Given the description of an element on the screen output the (x, y) to click on. 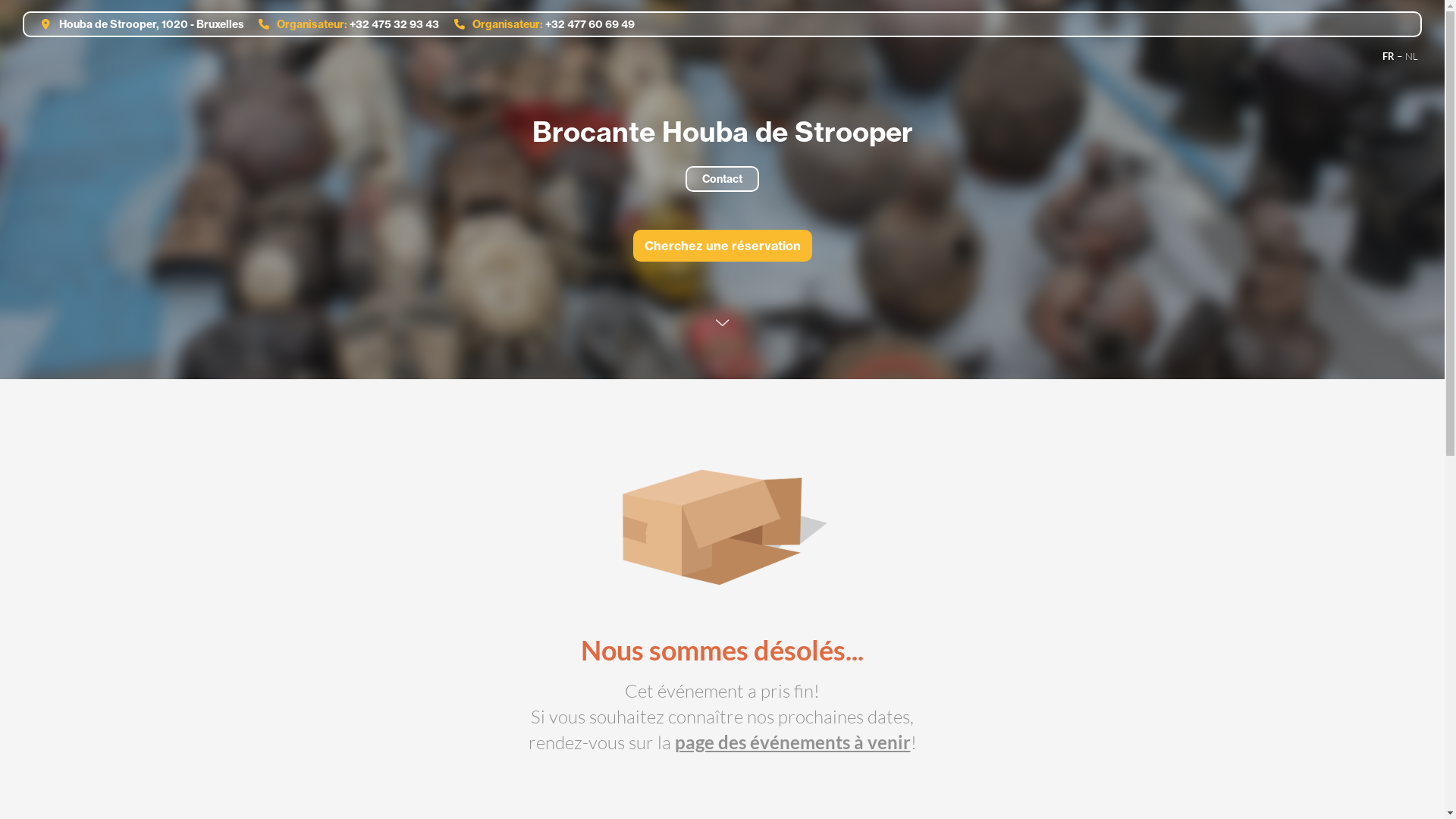
Organisateur: +32 477 60 69 49 Element type: text (537, 24)
Houba de Strooper, 1020 - Bruxelles Element type: text (137, 24)
Contact Element type: text (722, 178)
NL Element type: text (1411, 56)
Organisateur: +32 475 32 93 43 Element type: text (343, 24)
